Given the description of an element on the screen output the (x, y) to click on. 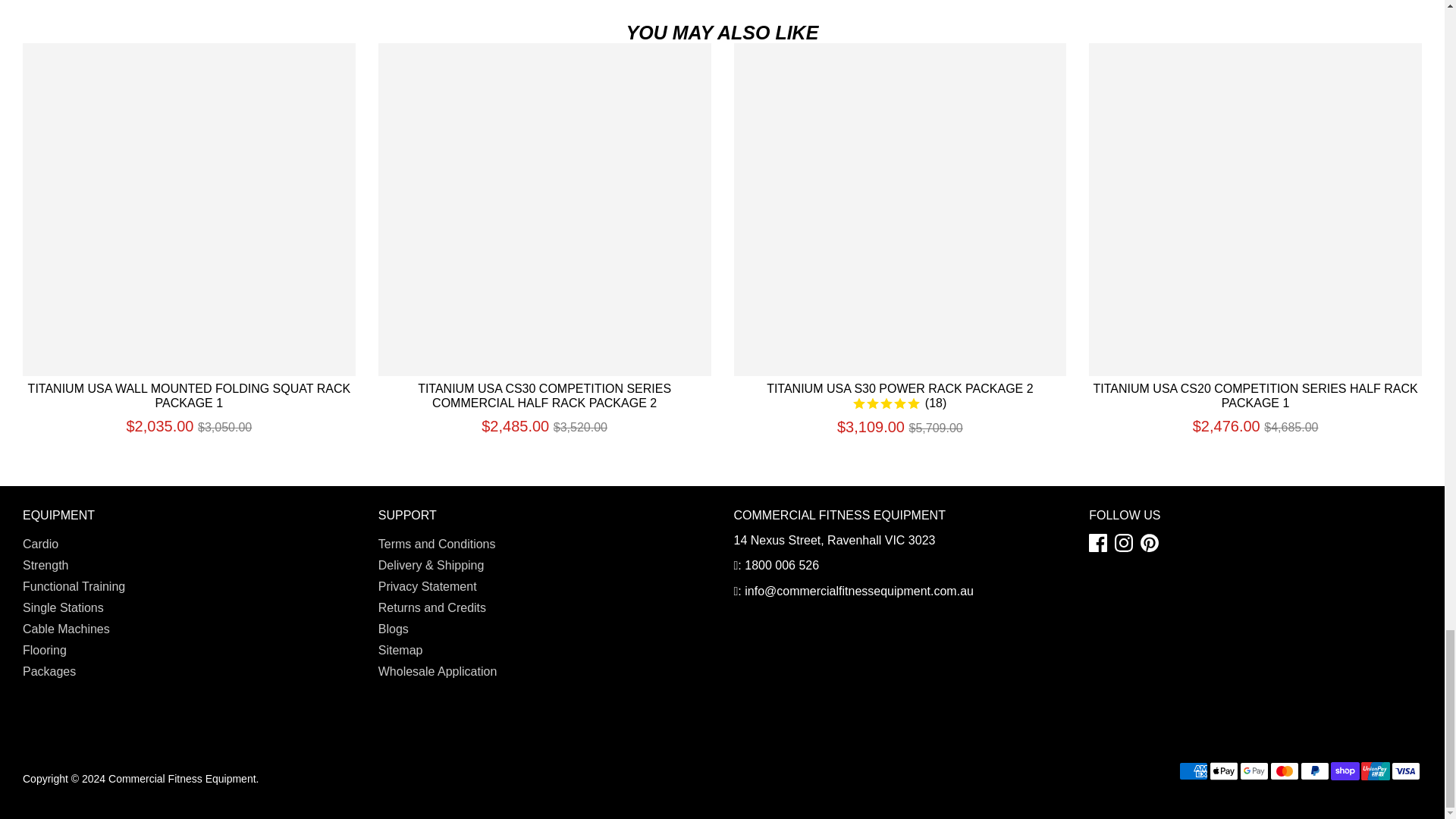
American Express (1193, 771)
Product reviews widget (722, 5)
